Given the description of an element on the screen output the (x, y) to click on. 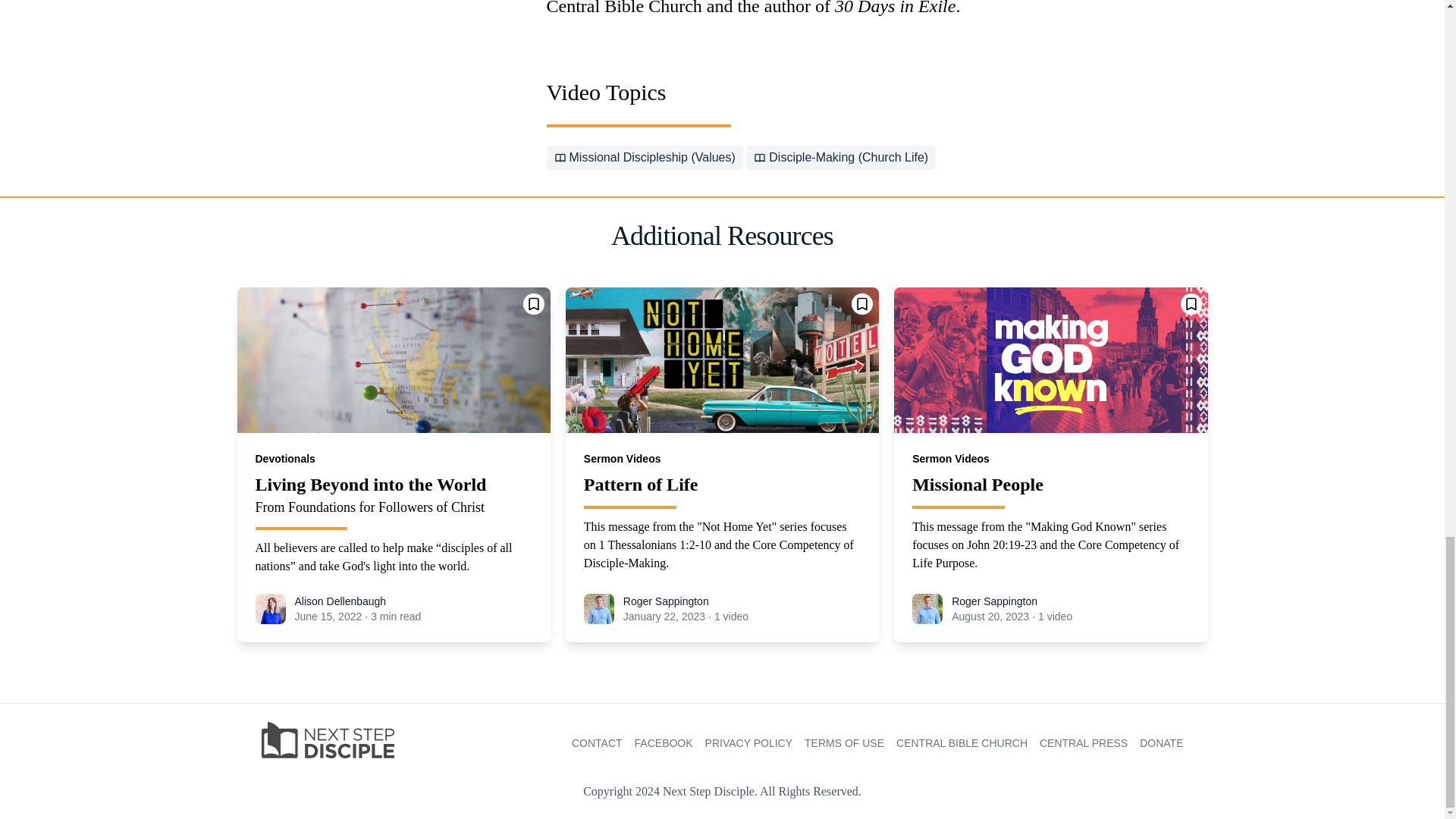
Next Step Disciple (326, 739)
